Given the description of an element on the screen output the (x, y) to click on. 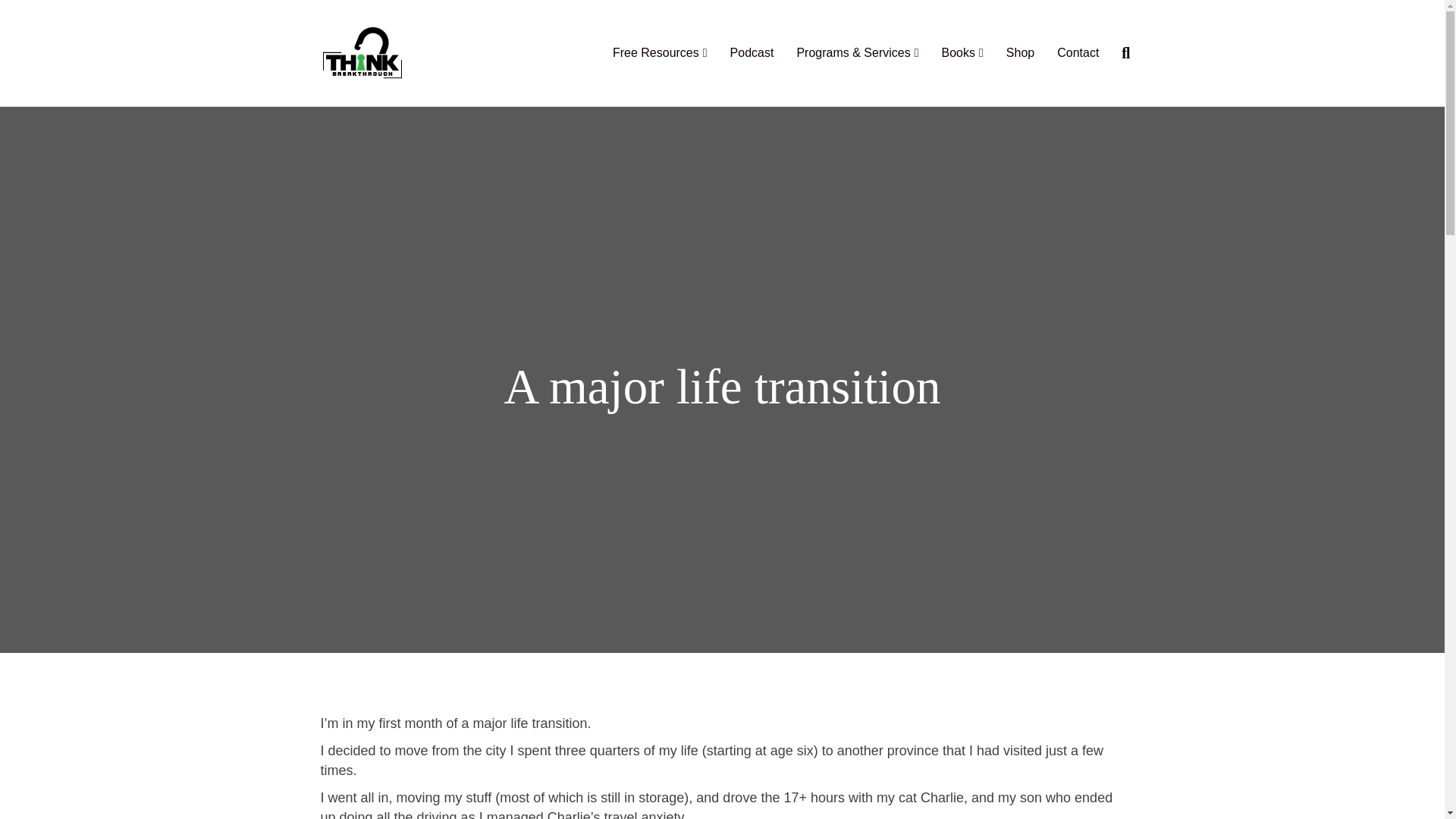
Contact (1077, 52)
Books (962, 53)
Free Resources (660, 53)
Podcast (752, 52)
Shop (1019, 52)
